Given the description of an element on the screen output the (x, y) to click on. 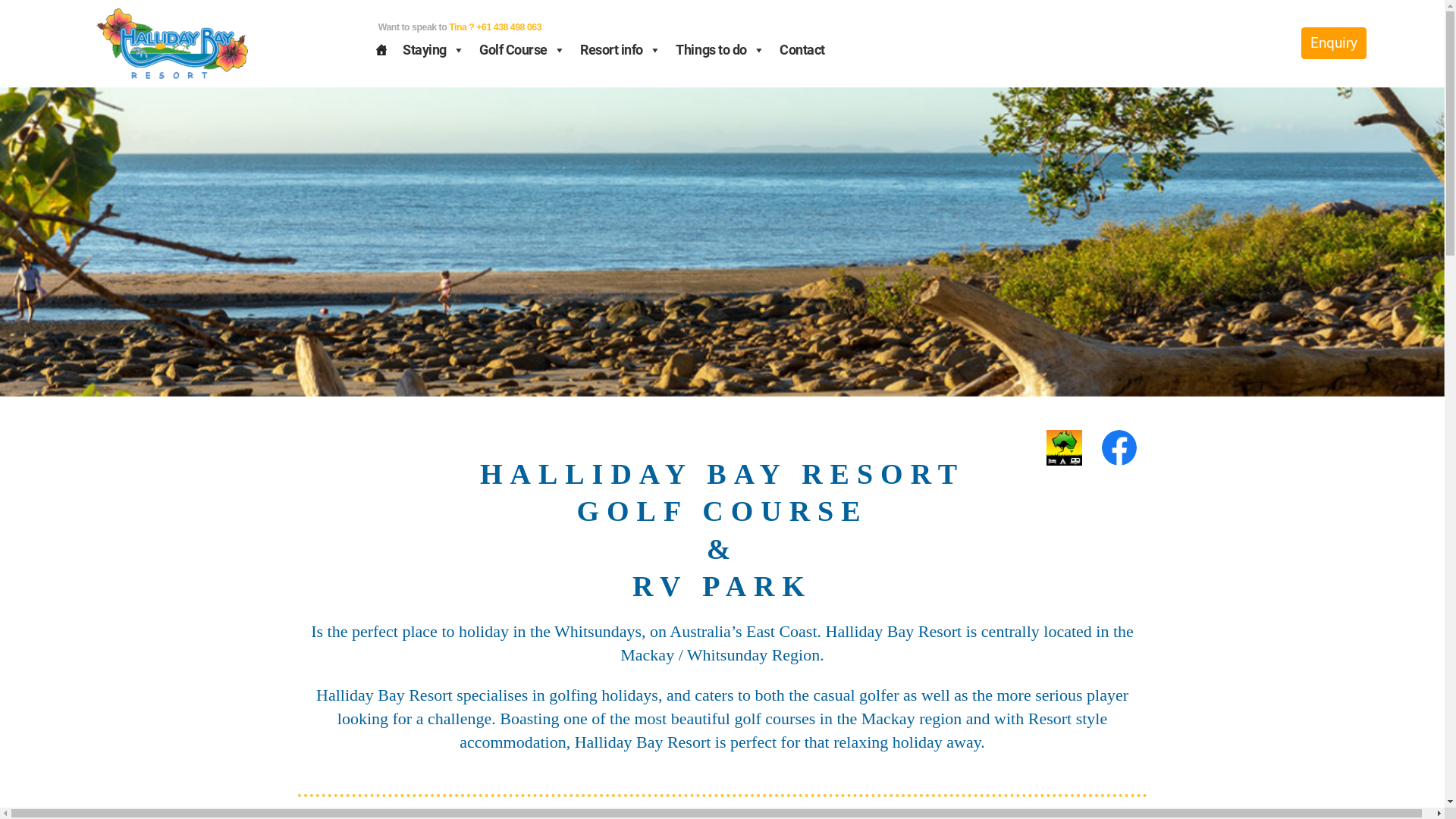
Contact Element type: text (801, 49)
Things to do Element type: text (719, 49)
Enquiry Element type: text (1333, 43)
+61 438 498 063 Element type: text (507, 26)
Resort info Element type: text (620, 49)
Want to speak to Element type: text (413, 26)
Tina ? Element type: text (460, 26)
Golf Course Element type: text (521, 49)
Staying Element type: text (433, 49)
slider_home_beach Element type: hover (722, 241)
